Given the description of an element on the screen output the (x, y) to click on. 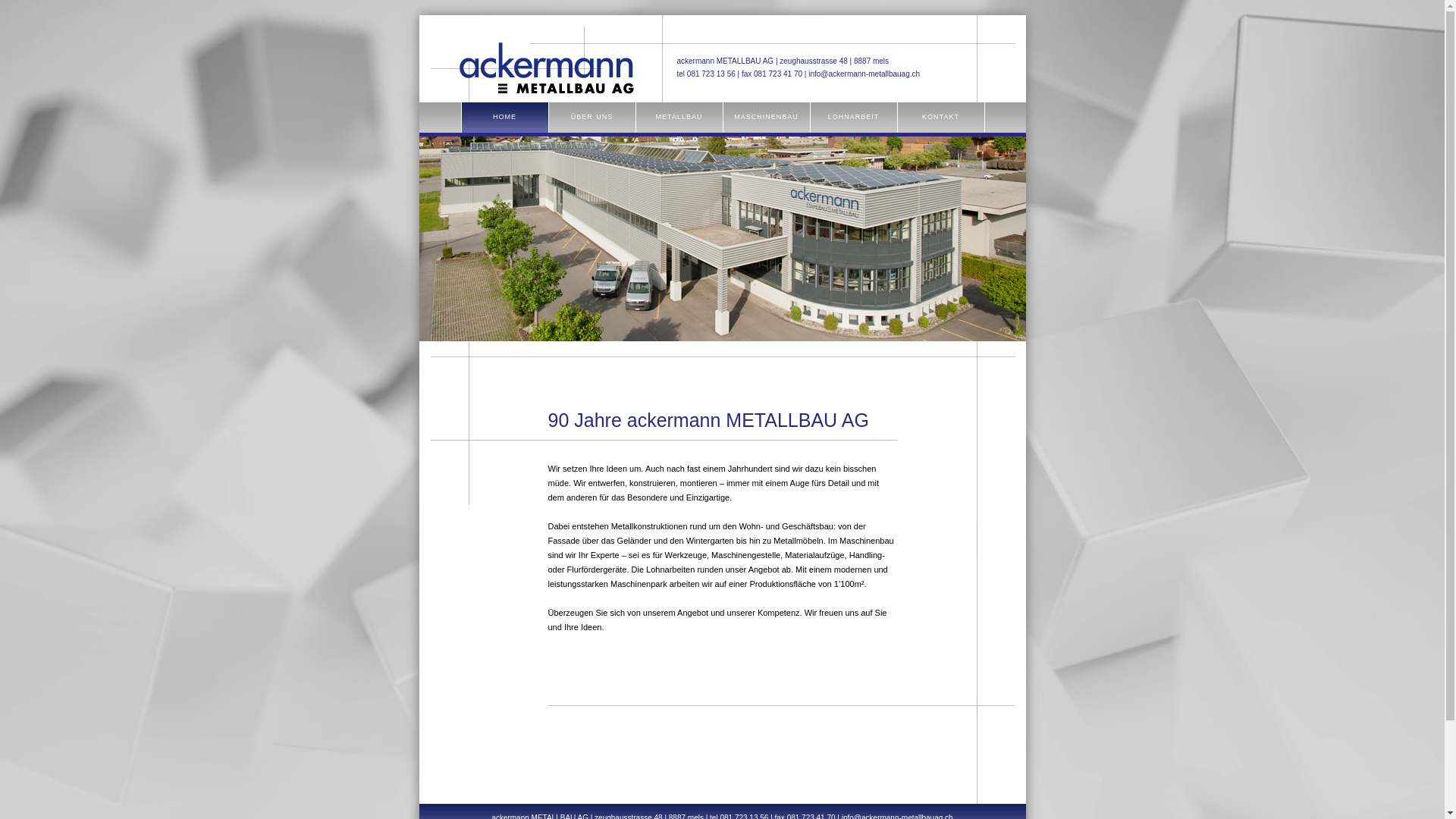
info@ackermann-metallbauag.ch Element type: text (863, 73)
maschinenbau Element type: text (766, 115)
lohnarbeit Element type: text (852, 115)
metallbau Element type: text (678, 115)
